Given the description of an element on the screen output the (x, y) to click on. 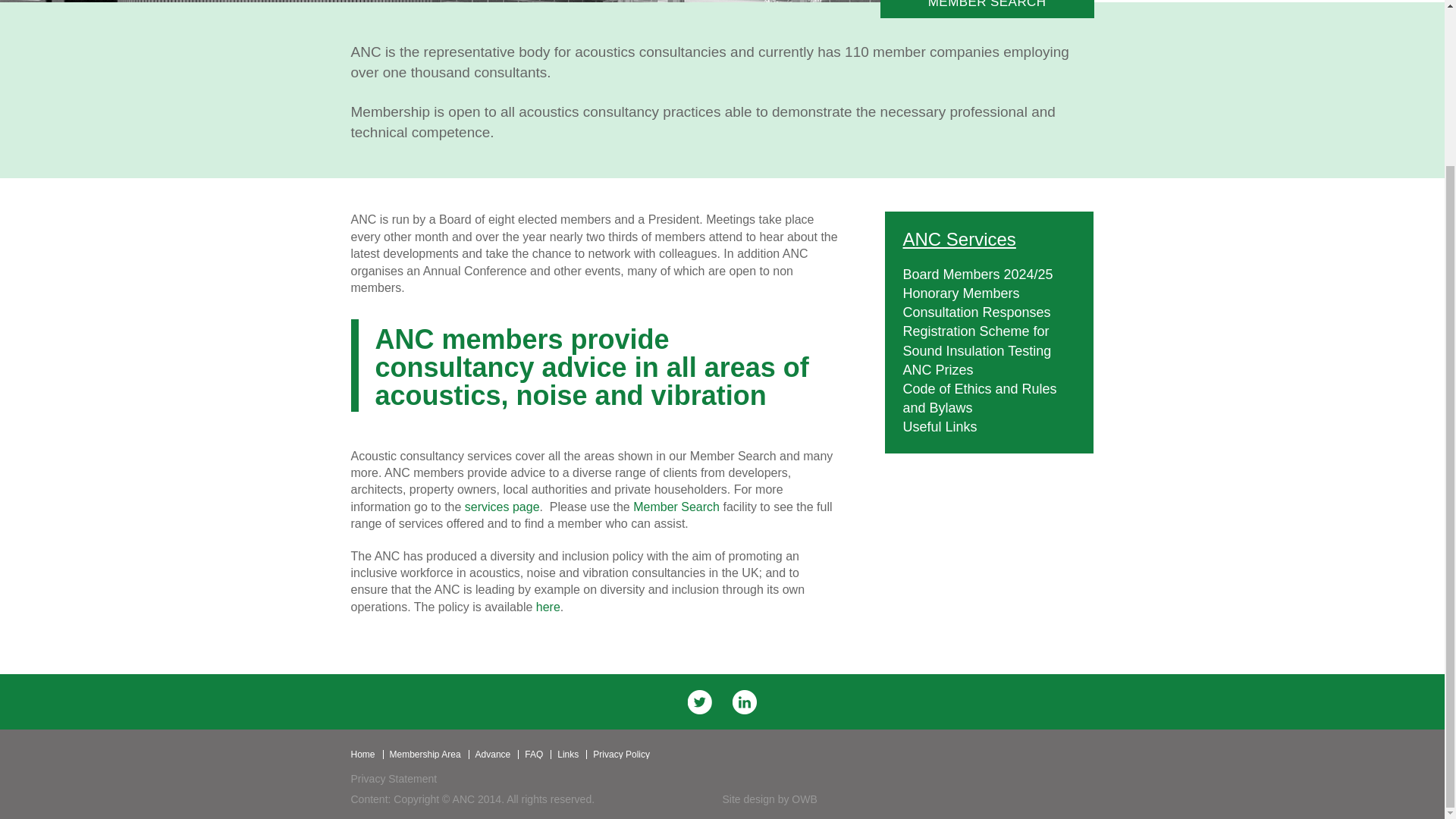
Consultation Responses (975, 312)
services page (502, 506)
Honorary Members (960, 293)
here (547, 606)
MEMBER SEARCH (987, 9)
Member Search (677, 506)
Registration Scheme for Sound Insulation Testing (976, 340)
